Given the description of an element on the screen output the (x, y) to click on. 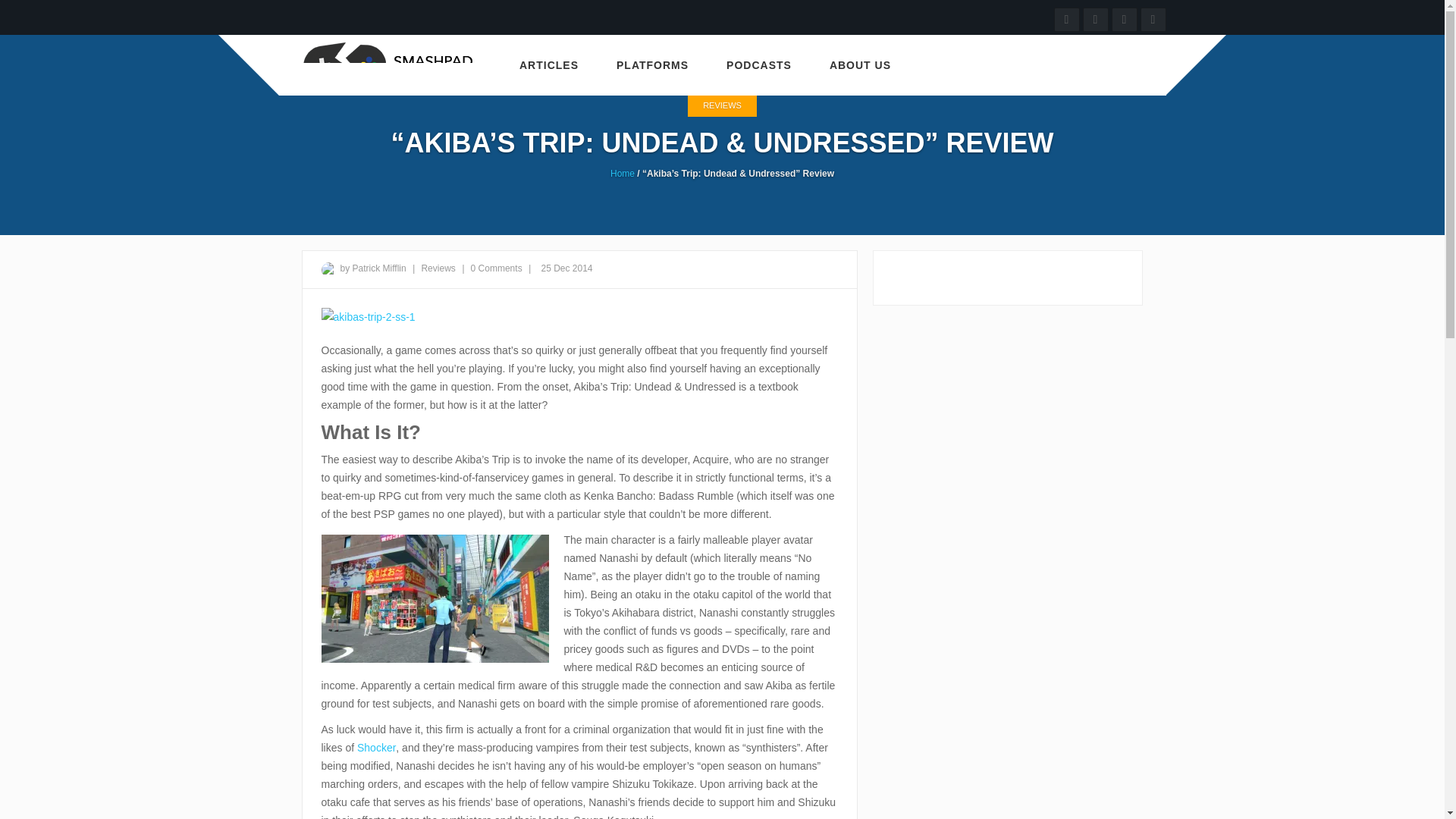
PLATFORMS (651, 65)
Shocker (376, 747)
Twitch (1095, 18)
YouTube (1067, 18)
ARTICLES (548, 65)
by Patrick Mifflin (372, 267)
Reviews (439, 267)
PODCASTS (758, 65)
0 Comments (496, 267)
Twitter (1124, 18)
